Given the description of an element on the screen output the (x, y) to click on. 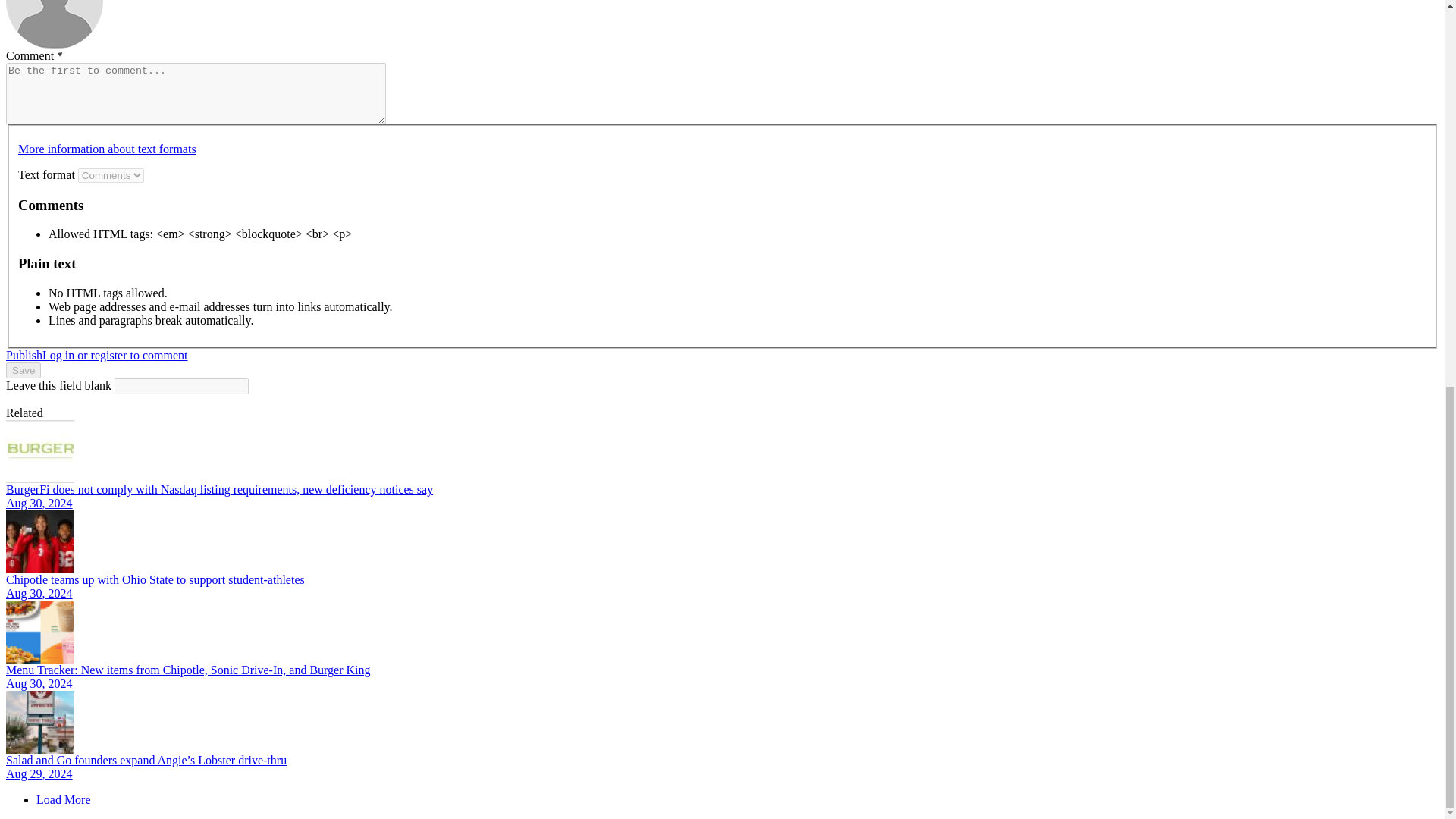
Load More (63, 799)
Log in or register to comment (114, 354)
Save (22, 370)
Publish (23, 354)
More information about text formats (106, 148)
